Given the description of an element on the screen output the (x, y) to click on. 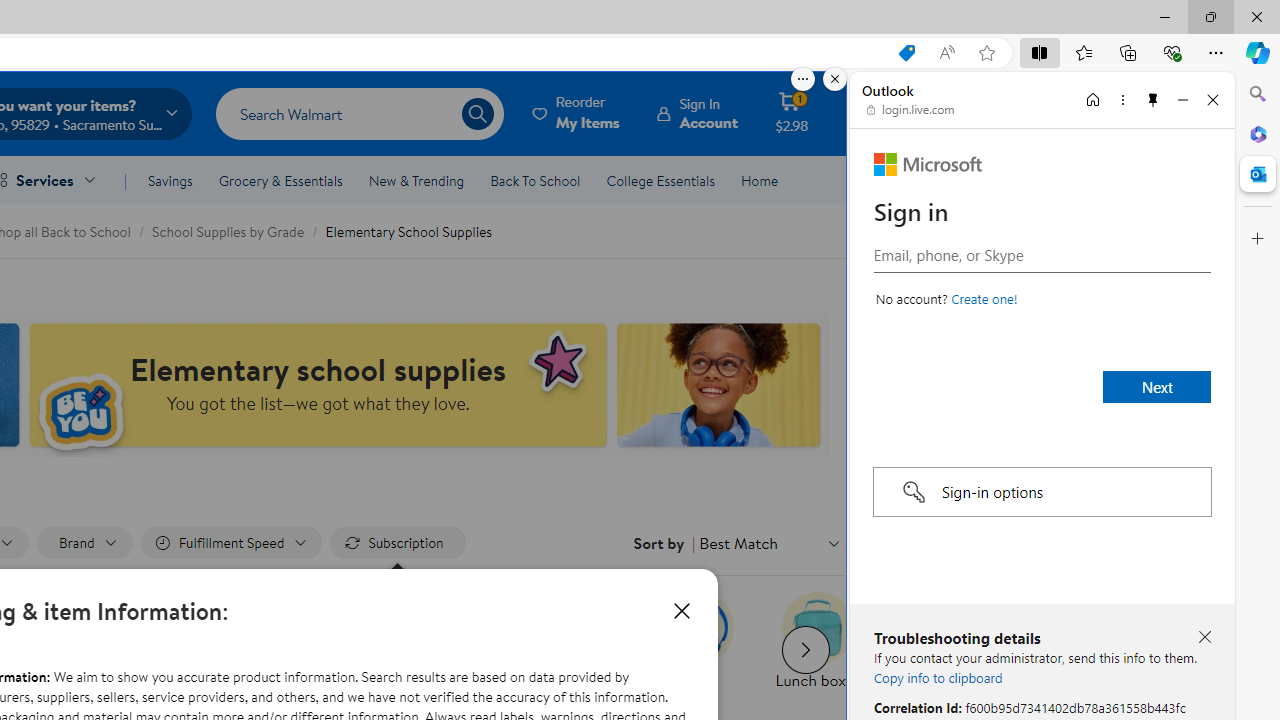
Sign-in options (1042, 492)
Copy info to clipboard (938, 677)
Close dialog (681, 610)
This site has coupons! Shopping in Microsoft Edge, 7 (906, 53)
Close troubleshooting details (1204, 637)
Close Search pane (1258, 94)
Create a Microsoft account (984, 298)
More options. (803, 79)
